Given the description of an element on the screen output the (x, y) to click on. 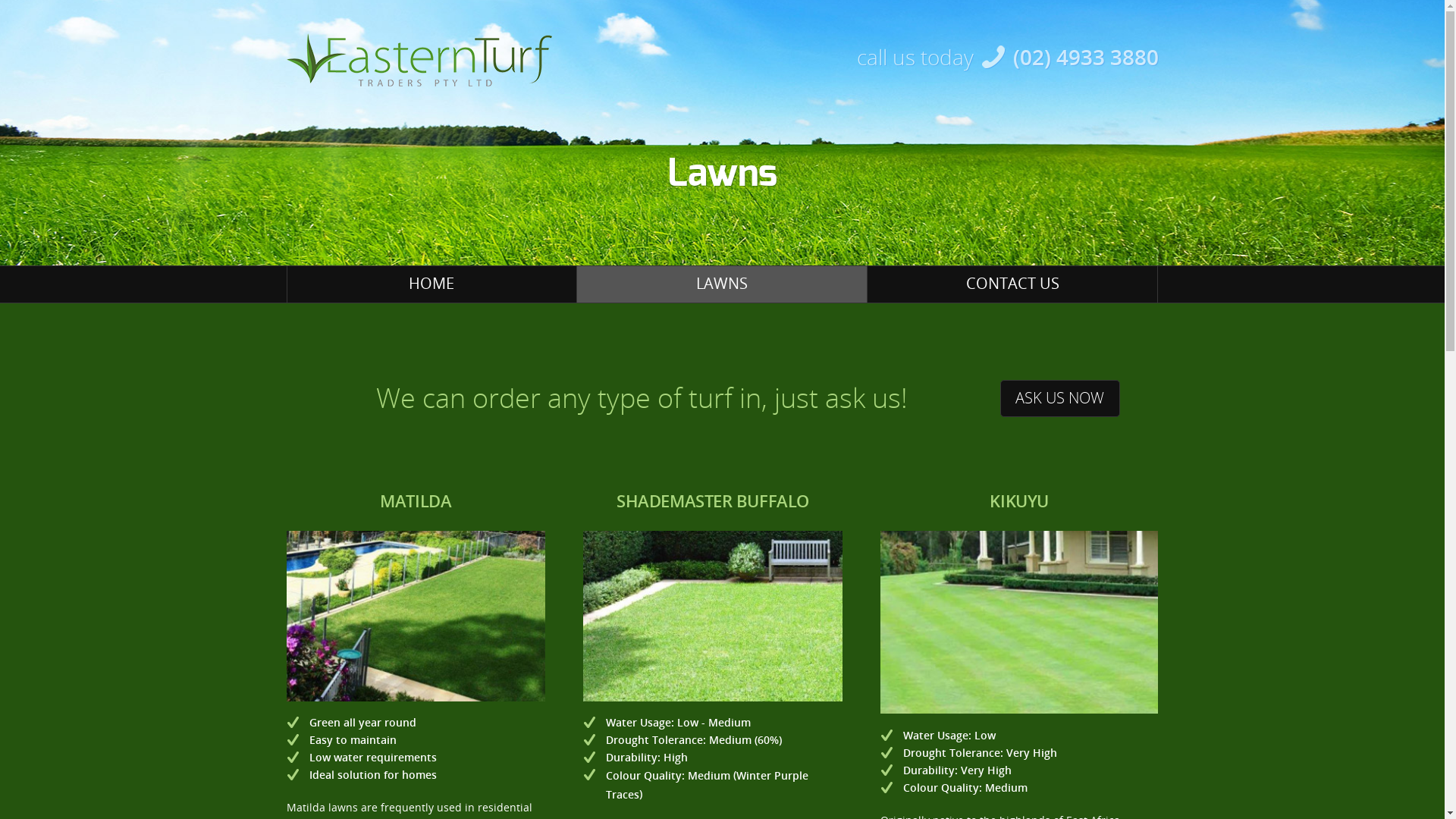
CONTACT US Element type: text (1012, 284)
HOME Element type: text (430, 284)
(02) 4933 3880 Element type: text (1085, 56)
LAWNS Element type: text (721, 284)
ASK US NOW Element type: text (1060, 398)
